Given the description of an element on the screen output the (x, y) to click on. 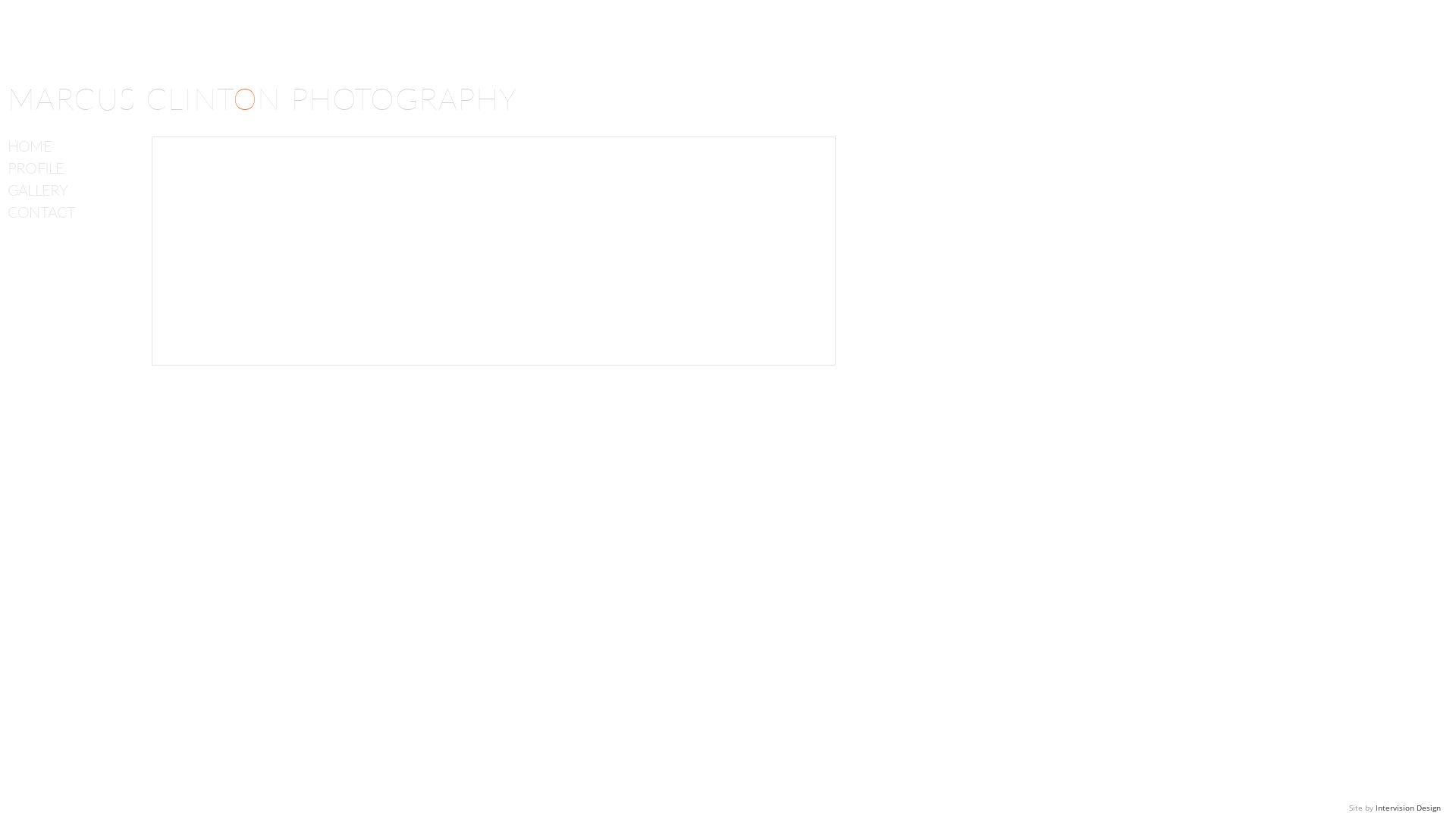
GALLERY Element type: text (75, 190)
HOME Element type: text (75, 146)
CONTACT Element type: text (75, 212)
Intervision Design Element type: text (1407, 807)
PROFILE Element type: text (75, 168)
